Given the description of an element on the screen output the (x, y) to click on. 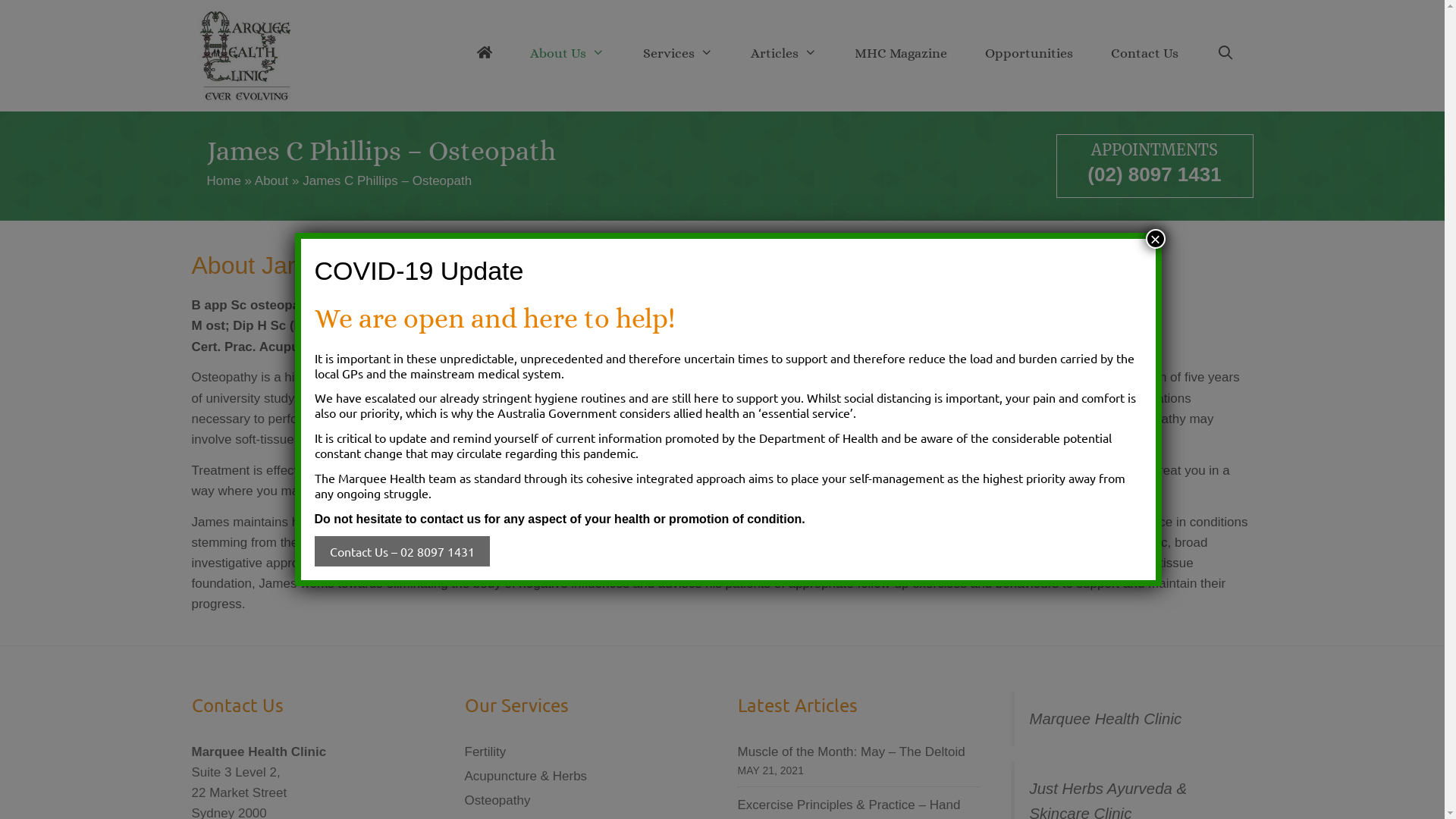
Acupuncture & Herbs Element type: text (525, 775)
Services Element type: text (677, 52)
About Us Element type: text (567, 52)
Fertility Element type: text (484, 751)
Contact Us Element type: text (1144, 52)
Home Element type: text (223, 180)
MHC Magazine Element type: text (900, 52)
Articles Element type: text (783, 52)
Marquee Health Clinic Element type: text (1105, 718)
Osteopathy Element type: text (497, 800)
About Element type: text (271, 180)
Opportunities Element type: text (1029, 52)
